Given the description of an element on the screen output the (x, y) to click on. 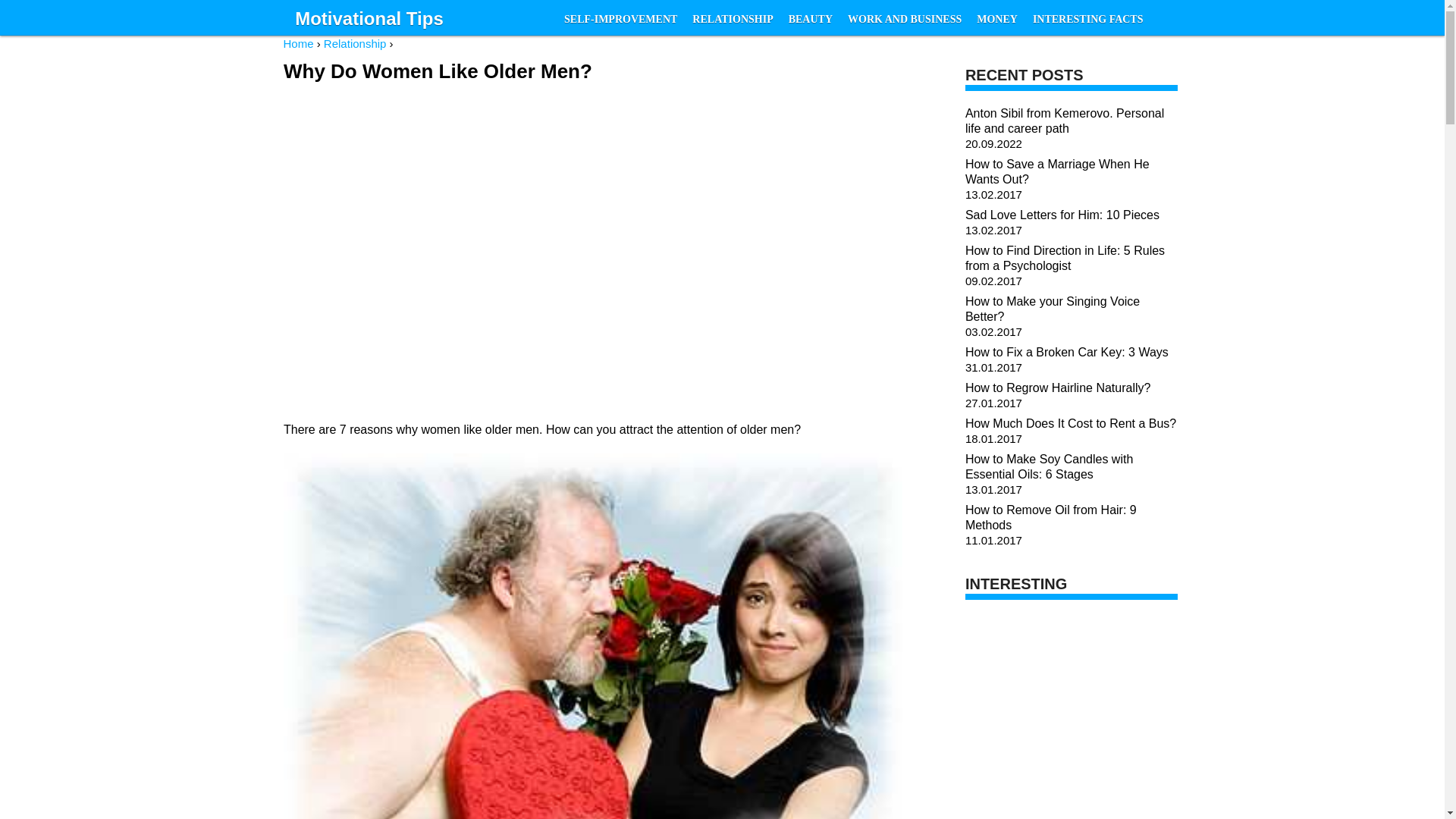
Sad Love Letters for Him: 10 Pieces (1061, 214)
How to Make Soy Candles with Essential Oils: 6 Stages (1048, 466)
BEAUTY (810, 20)
INTERESTING FACTS (1088, 20)
How to Save a Marriage When He Wants Out? (1057, 171)
MONEY (997, 20)
How to Fix a Broken Car Key: 3 Ways (1067, 351)
SELF-IMPROVEMENT (620, 20)
How to Make your Singing Voice Better? (1052, 308)
How to Remove Oil from Hair: 9 Methods (1051, 517)
